Given the description of an element on the screen output the (x, y) to click on. 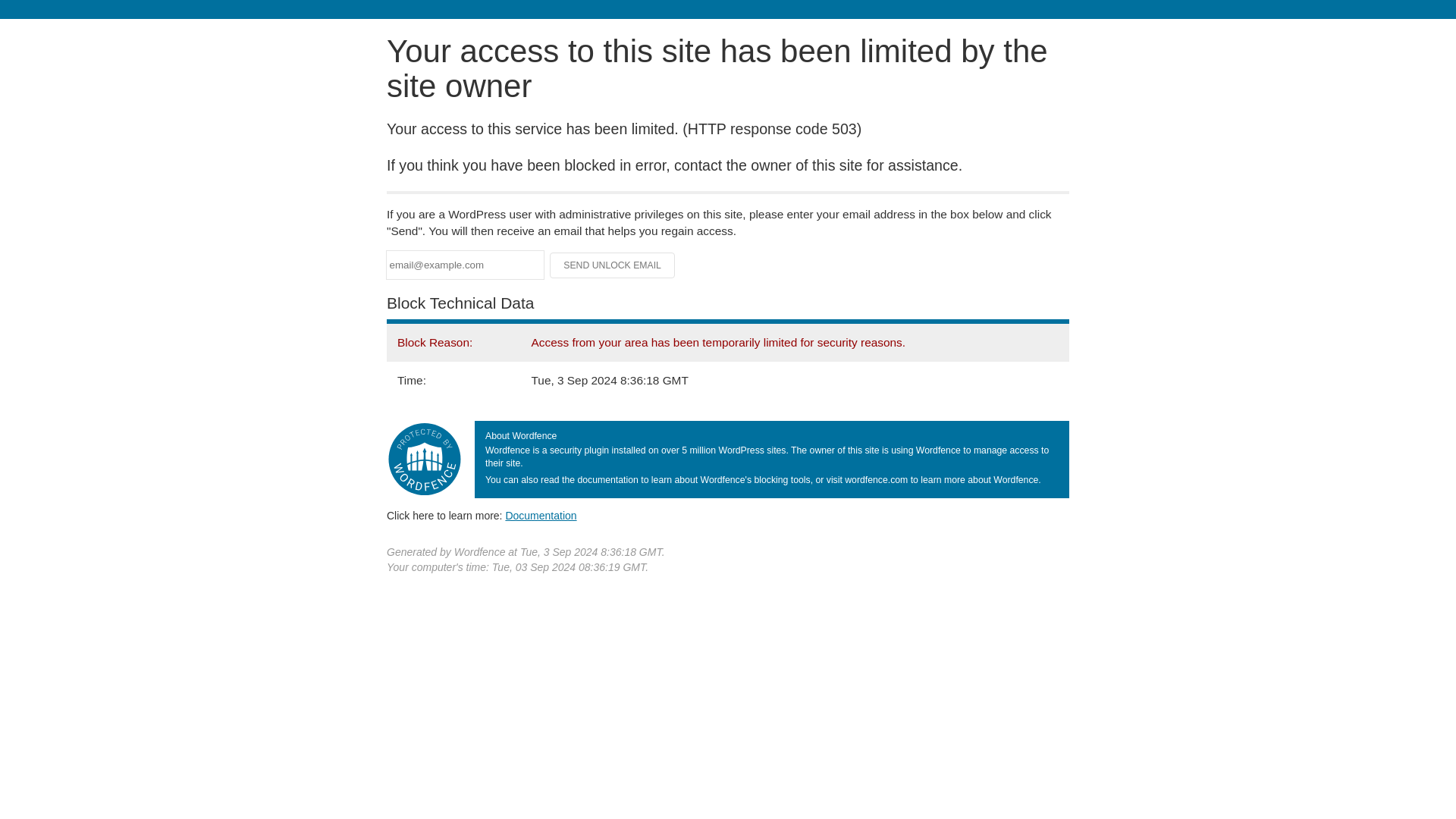
Send Unlock Email (612, 265)
Documentation (540, 515)
Send Unlock Email (612, 265)
